Given the description of an element on the screen output the (x, y) to click on. 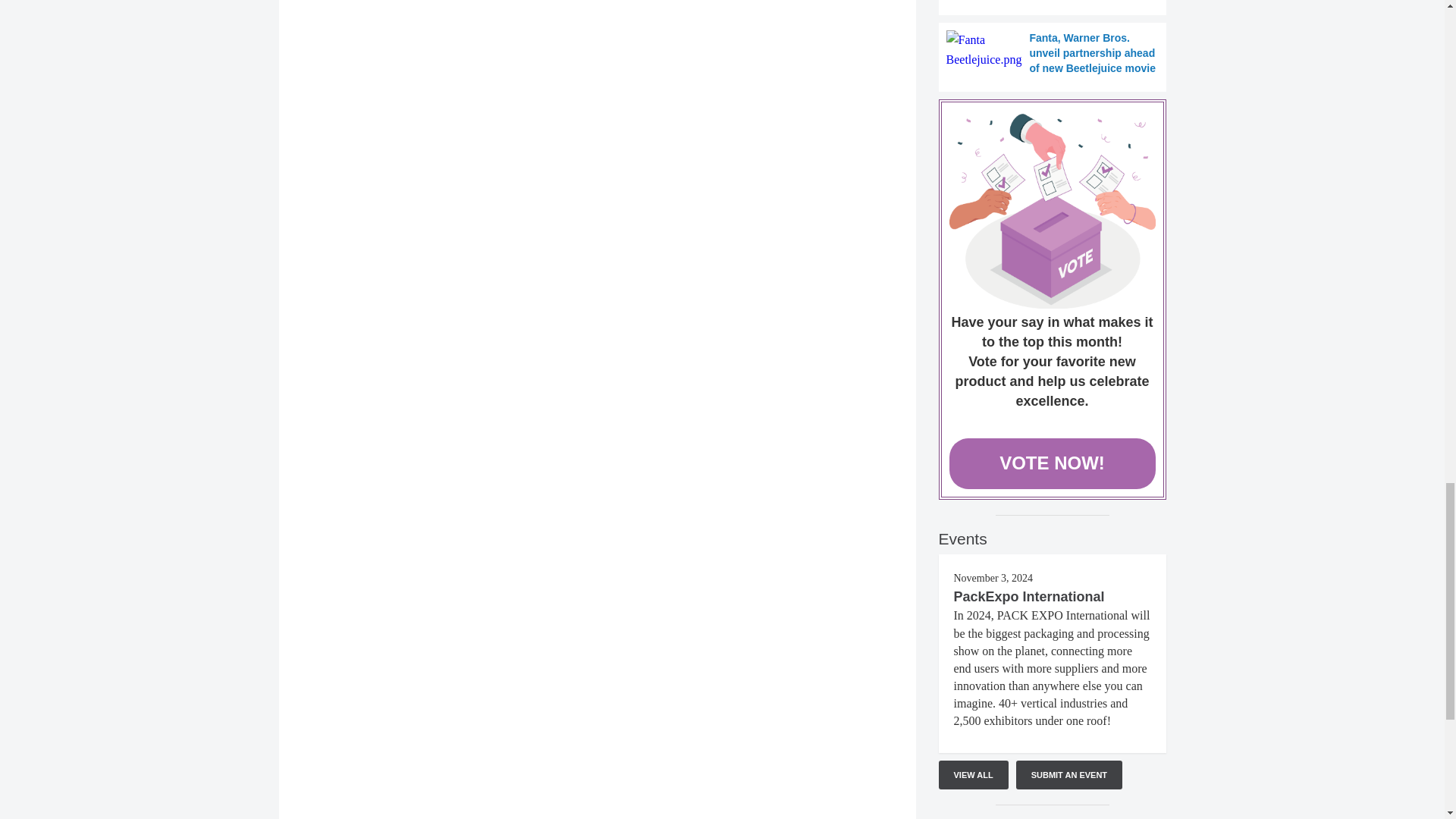
Vote (1052, 210)
PackExpo International (1029, 596)
